Given the description of an element on the screen output the (x, y) to click on. 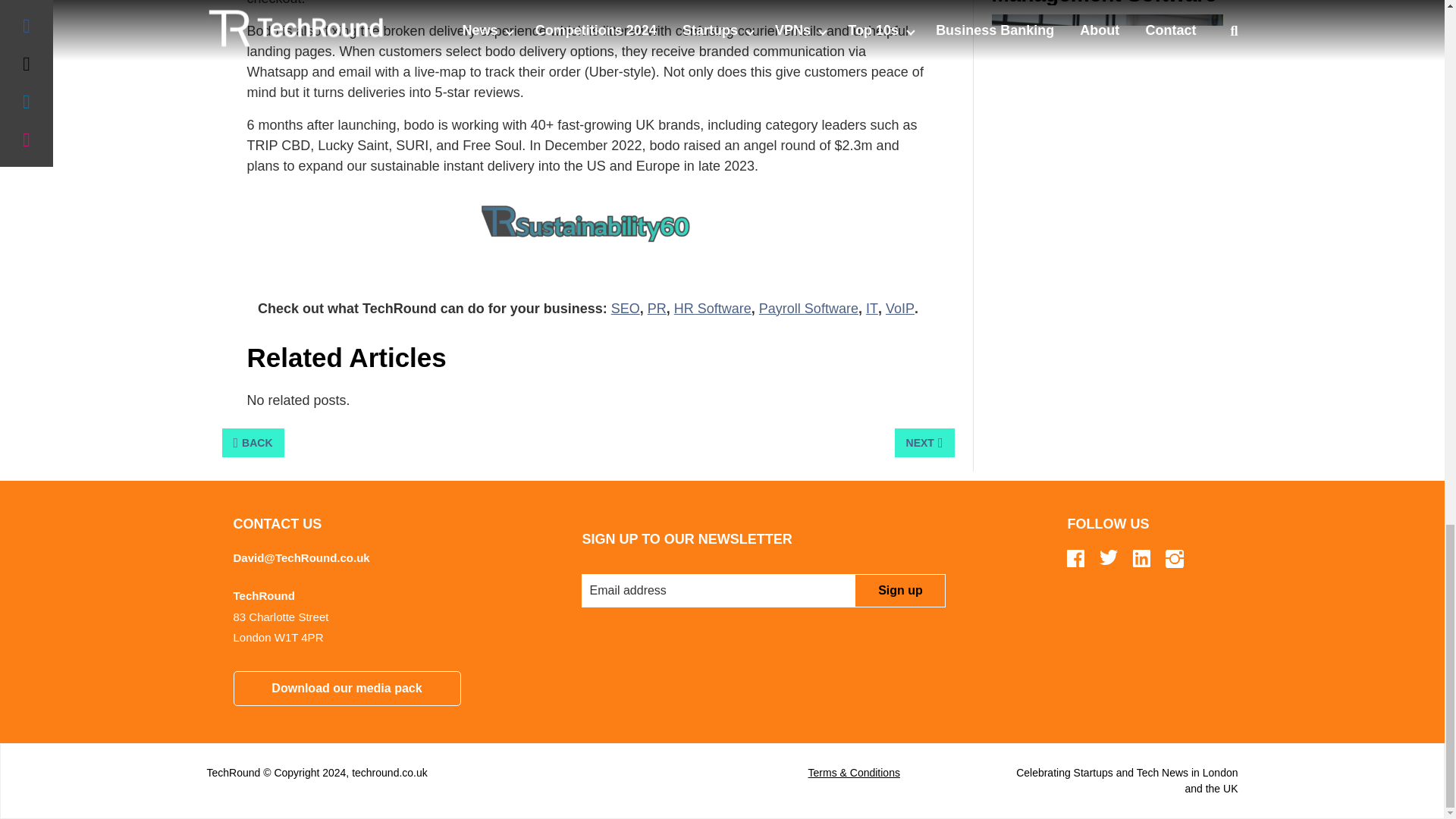
Enter The BAME Top 50 Entrepreneurs - Deadline 10th Nov 2021 (1107, 101)
Sign up (899, 590)
